Given the description of an element on the screen output the (x, y) to click on. 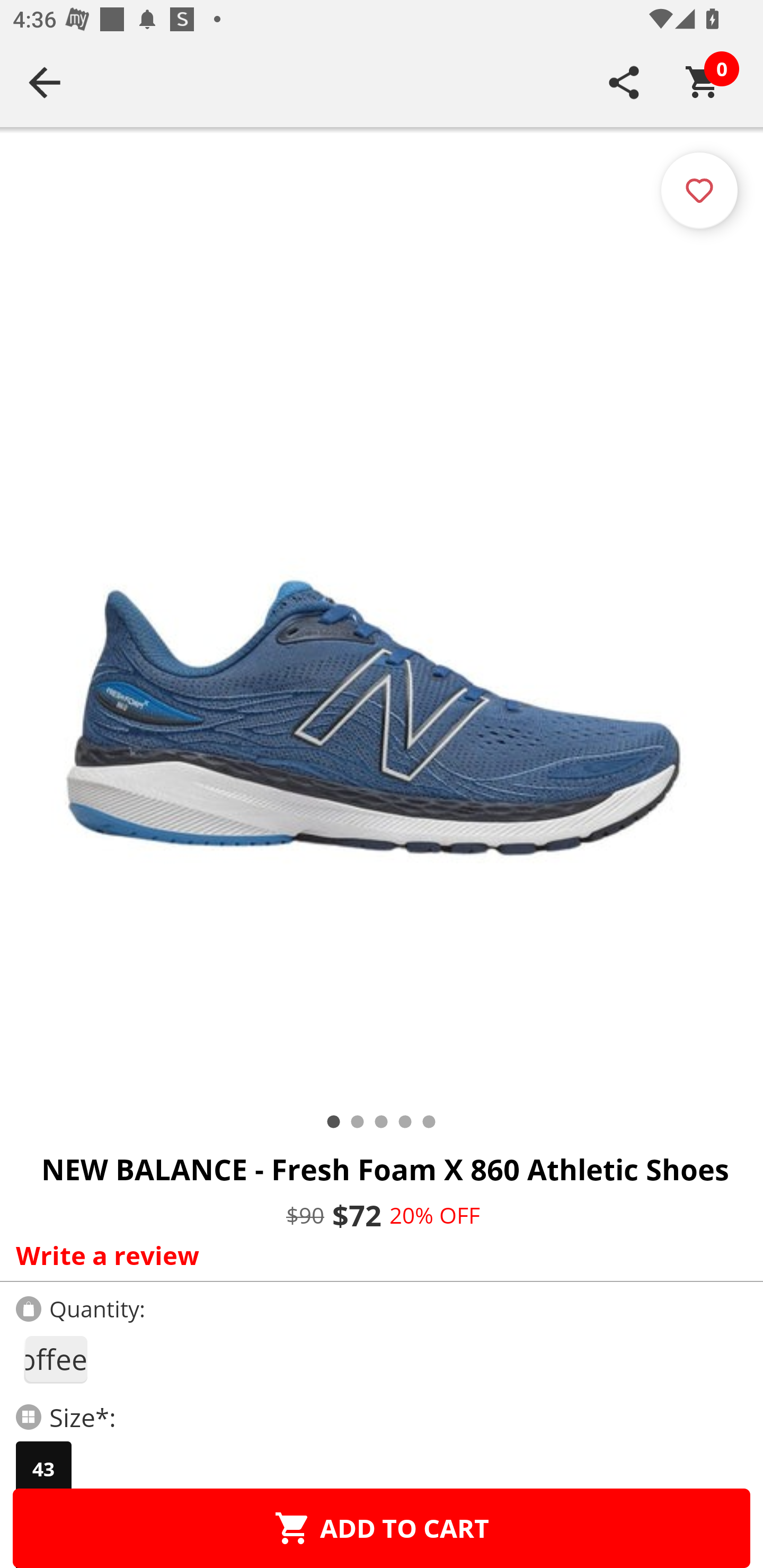
Navigate up (44, 82)
SHARE (623, 82)
Cart (703, 81)
Write a review (377, 1255)
1toothbrushcoffee (55, 1358)
43 (43, 1468)
ADD TO CART (381, 1528)
